Given the description of an element on the screen output the (x, y) to click on. 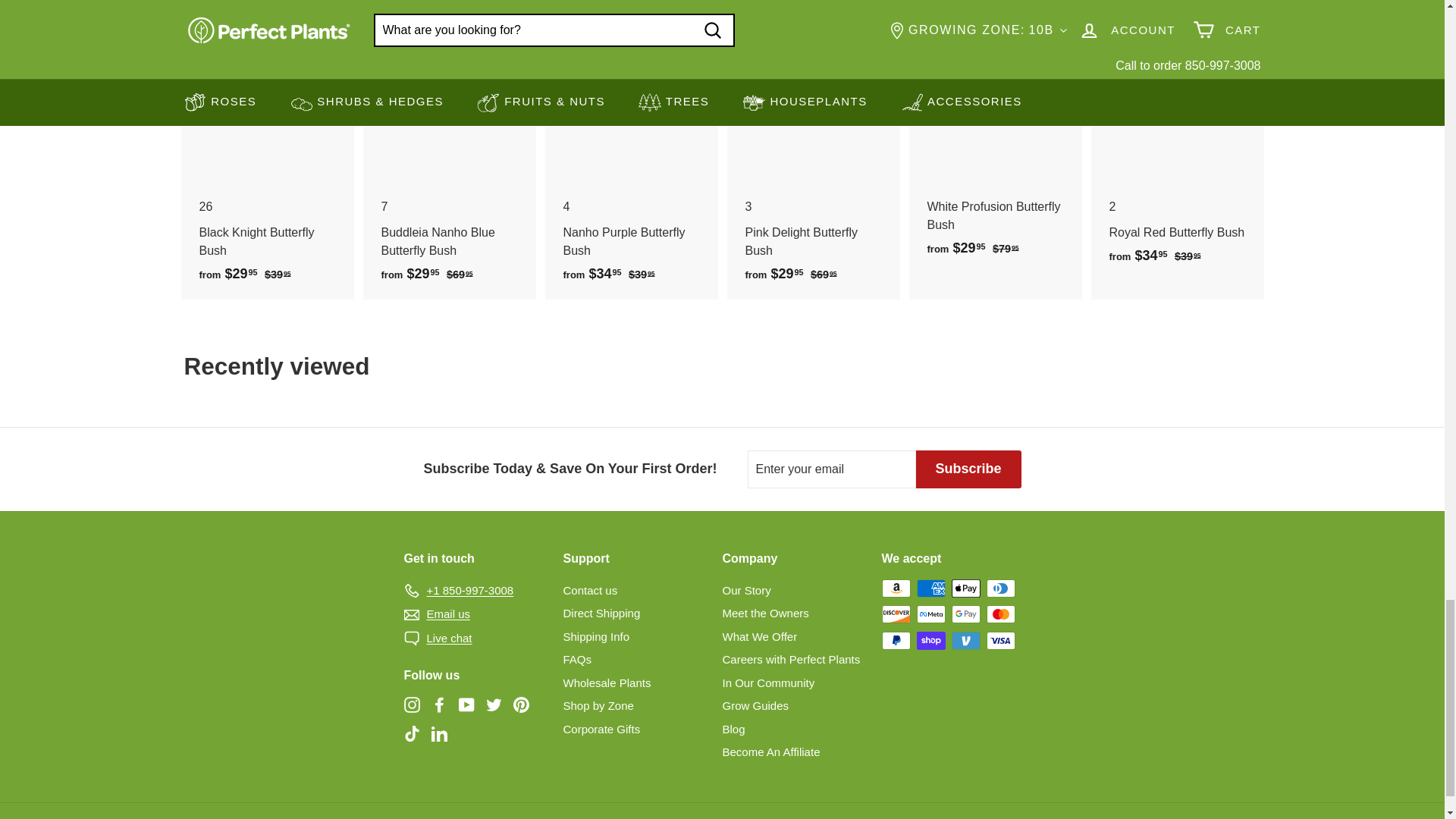
Perfect Plants Nursery on Instagram (411, 704)
Perfect Plants Nursery on LinkedIn (438, 732)
Perfect Plants Nursery on YouTube (466, 704)
Perfect Plants Nursery on Facebook (438, 704)
Perfect Plants Nursery on TikTok (411, 732)
Perfect Plants Nursery on Twitter (492, 704)
Perfect Plants Nursery on Pinterest (520, 704)
